Given the description of an element on the screen output the (x, y) to click on. 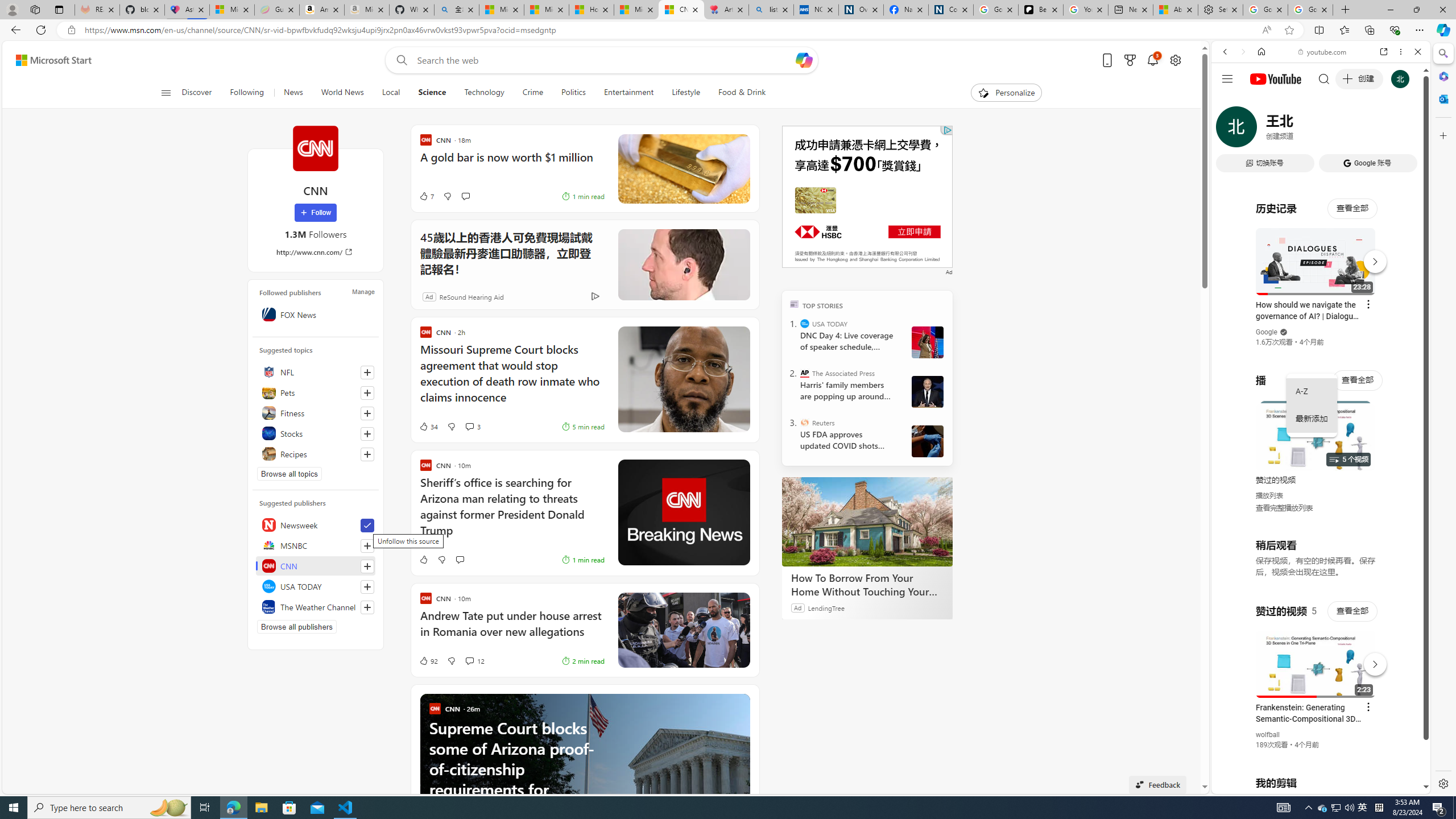
Technology (483, 92)
ReSound Hearing Aid (471, 296)
NCL Adult Asthma Inhaler Choice Guideline (816, 9)
TOP (794, 302)
Politics (573, 92)
Asthma Inhalers: Names and Types (187, 9)
Pets (315, 392)
Global web icon (1232, 655)
